Given the description of an element on the screen output the (x, y) to click on. 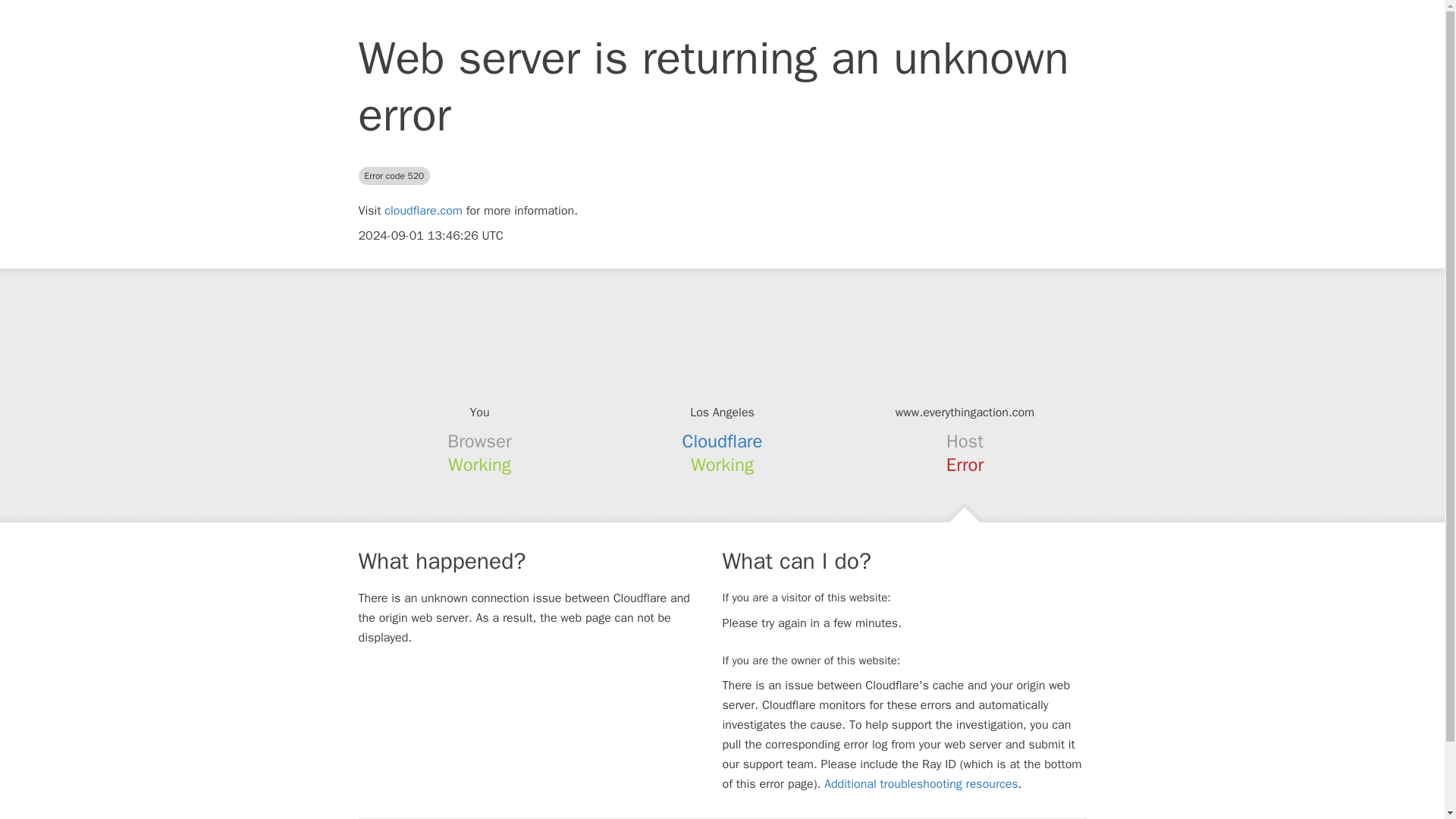
Cloudflare (722, 440)
cloudflare.com (423, 210)
Additional troubleshooting resources (920, 783)
